Given the description of an element on the screen output the (x, y) to click on. 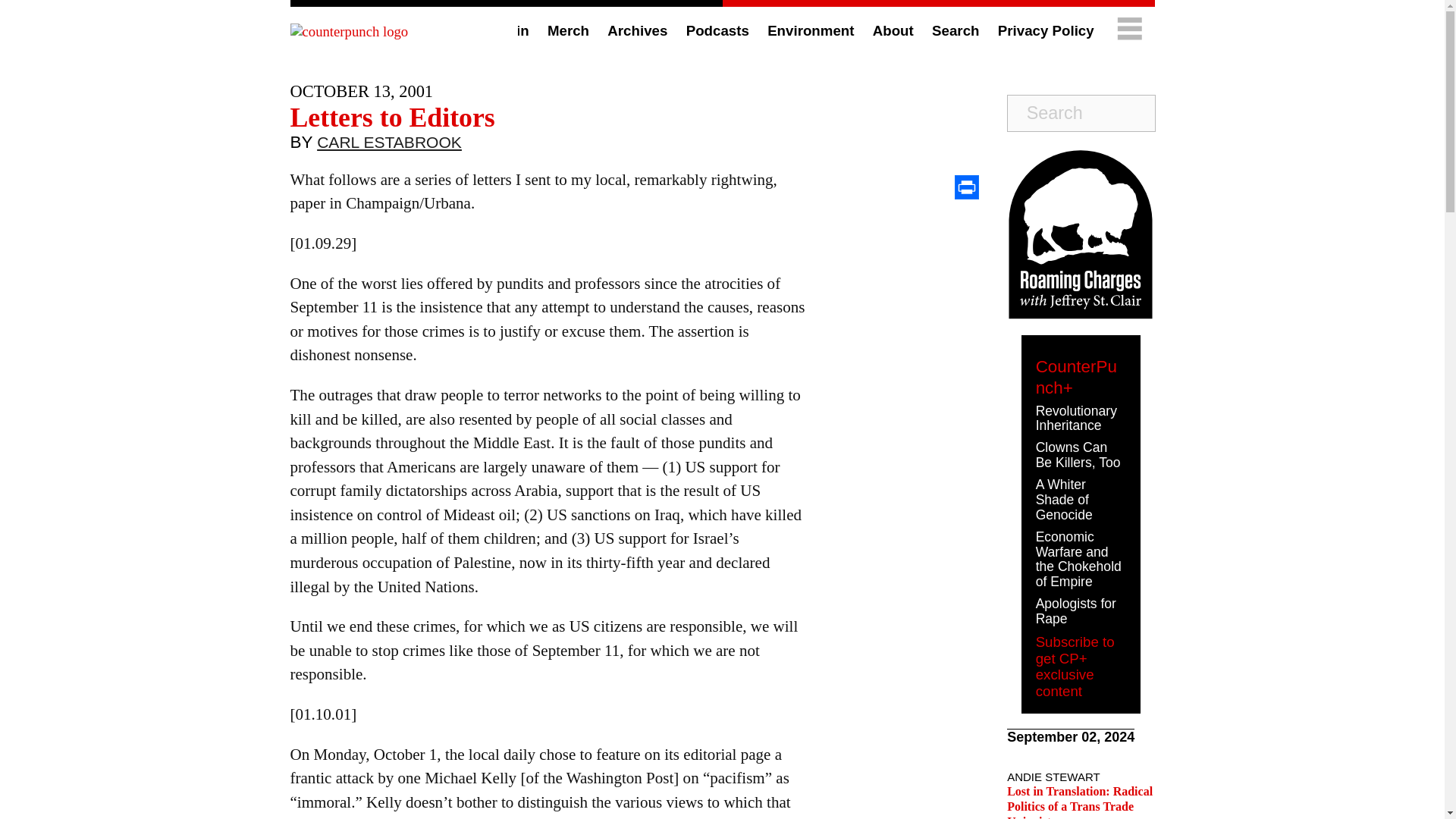
Clowns Can Be Killers, Too (1078, 454)
CARL ESTABROOK (389, 145)
Archives (636, 30)
Podcasts (717, 30)
Merch (568, 30)
Apologists for Rape (1075, 611)
Environment (810, 30)
Login (509, 30)
2001-10-13 (360, 90)
A Whiter Shade of Genocide (1064, 499)
